Given the description of an element on the screen output the (x, y) to click on. 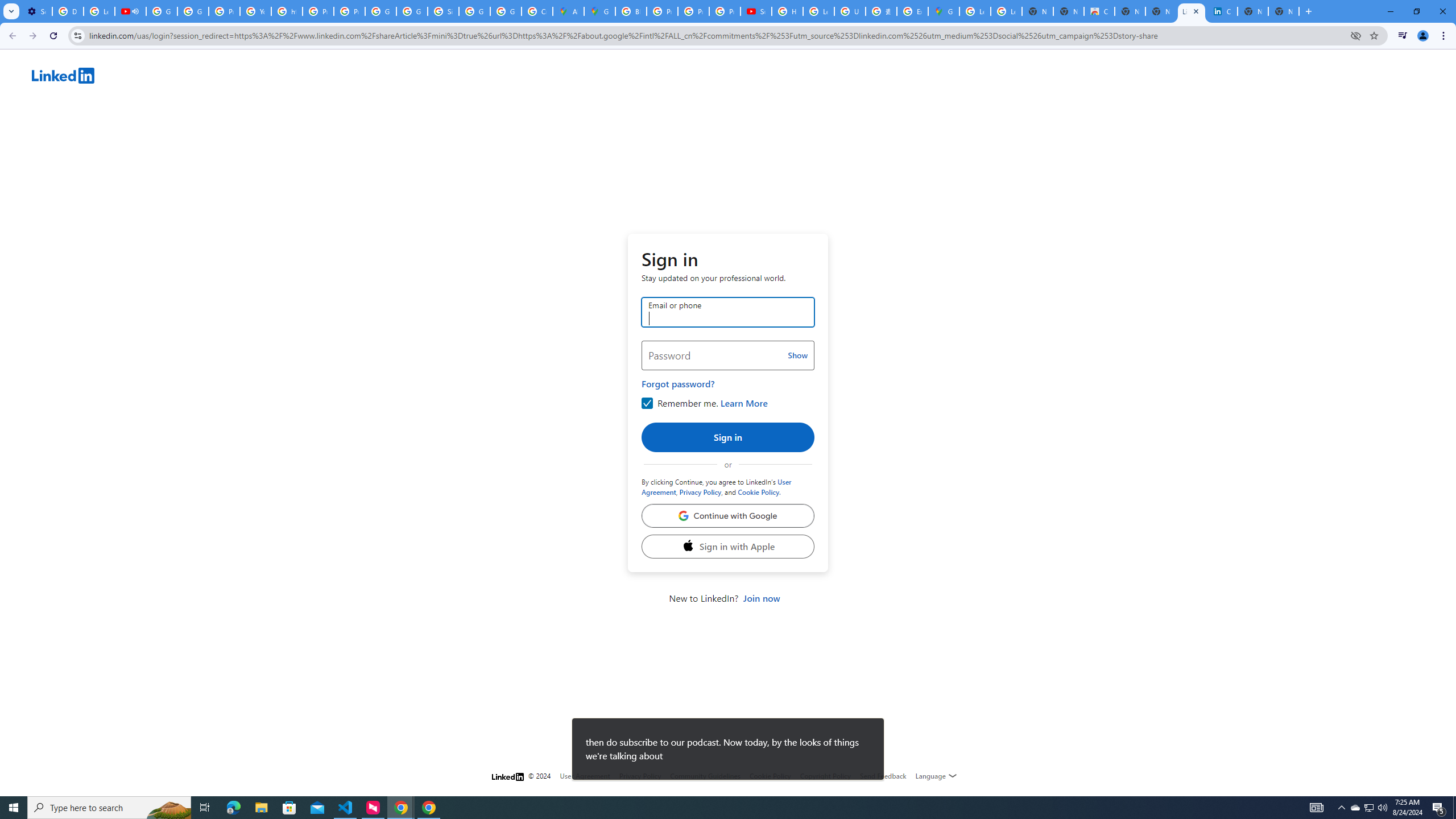
Copyright Policy (1222, 11)
Join now (761, 597)
Chrome Web Store (1098, 11)
New Tab (1283, 11)
How Chrome protects your passwords - Google Chrome Help (787, 11)
Community Guidelines (705, 775)
Cookie Policy (769, 775)
